Given the description of an element on the screen output the (x, y) to click on. 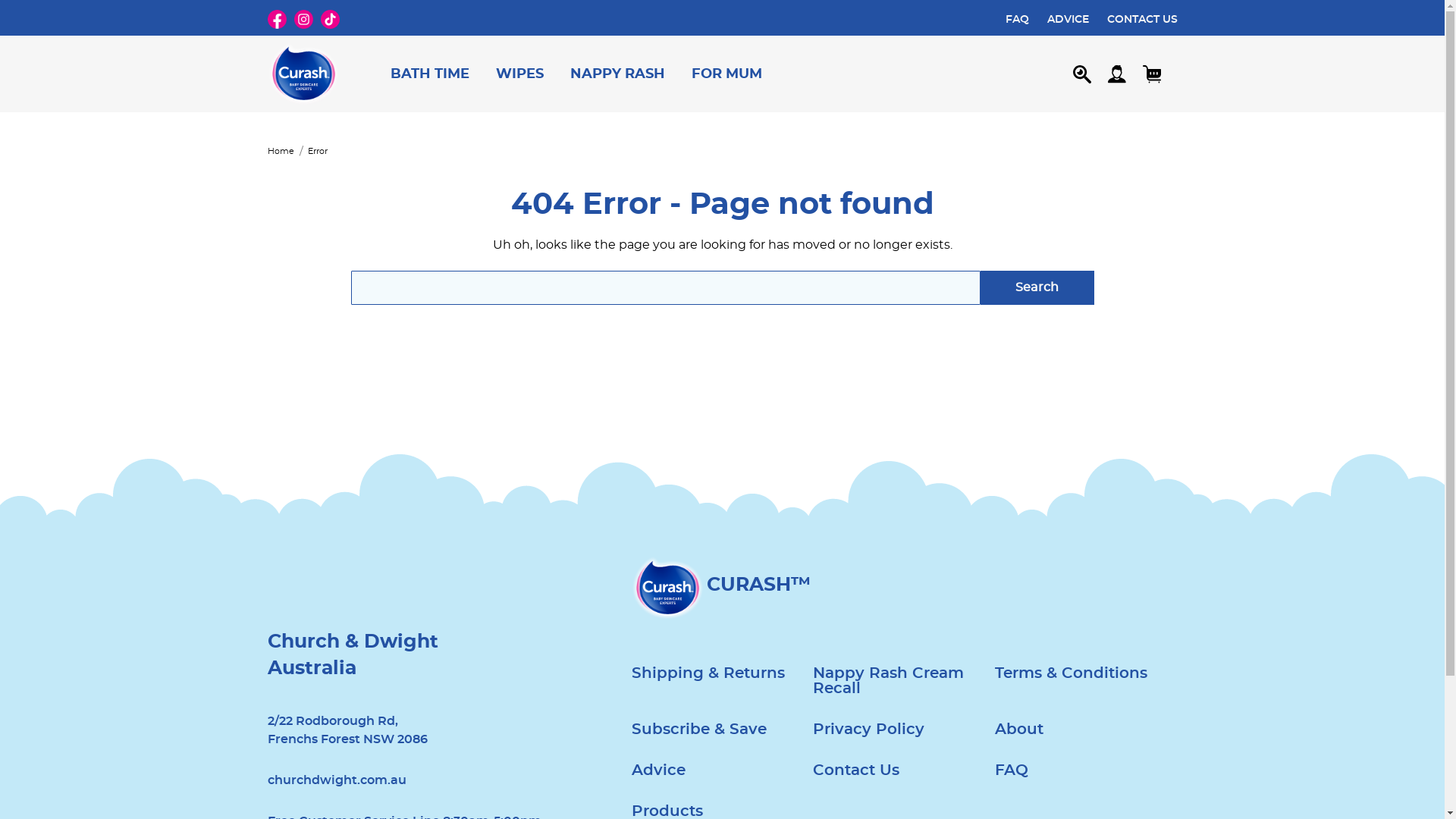
Contact Us Element type: text (855, 770)
Home Element type: text (279, 151)
Privacy Policy Element type: text (868, 729)
ADVICE Element type: text (1067, 18)
NAPPY RASH Element type: text (616, 73)
Search Element type: text (1036, 287)
Terms & Conditions Element type: text (1070, 672)
CONTACT US Element type: text (1142, 18)
Advice Element type: text (657, 770)
Error Element type: text (317, 151)
Subscribe & Save Element type: text (697, 729)
About Element type: text (1018, 729)
FAQ Element type: text (1011, 770)
BATH TIME Element type: text (430, 73)
WIPES Element type: text (519, 73)
Shipping & Returns Element type: text (707, 672)
churchdwight.com.au Element type: text (335, 780)
FAQ Element type: text (1017, 18)
FOR MUM Element type: text (726, 73)
Nappy Rash Cream Recall Element type: text (903, 680)
